Given the description of an element on the screen output the (x, y) to click on. 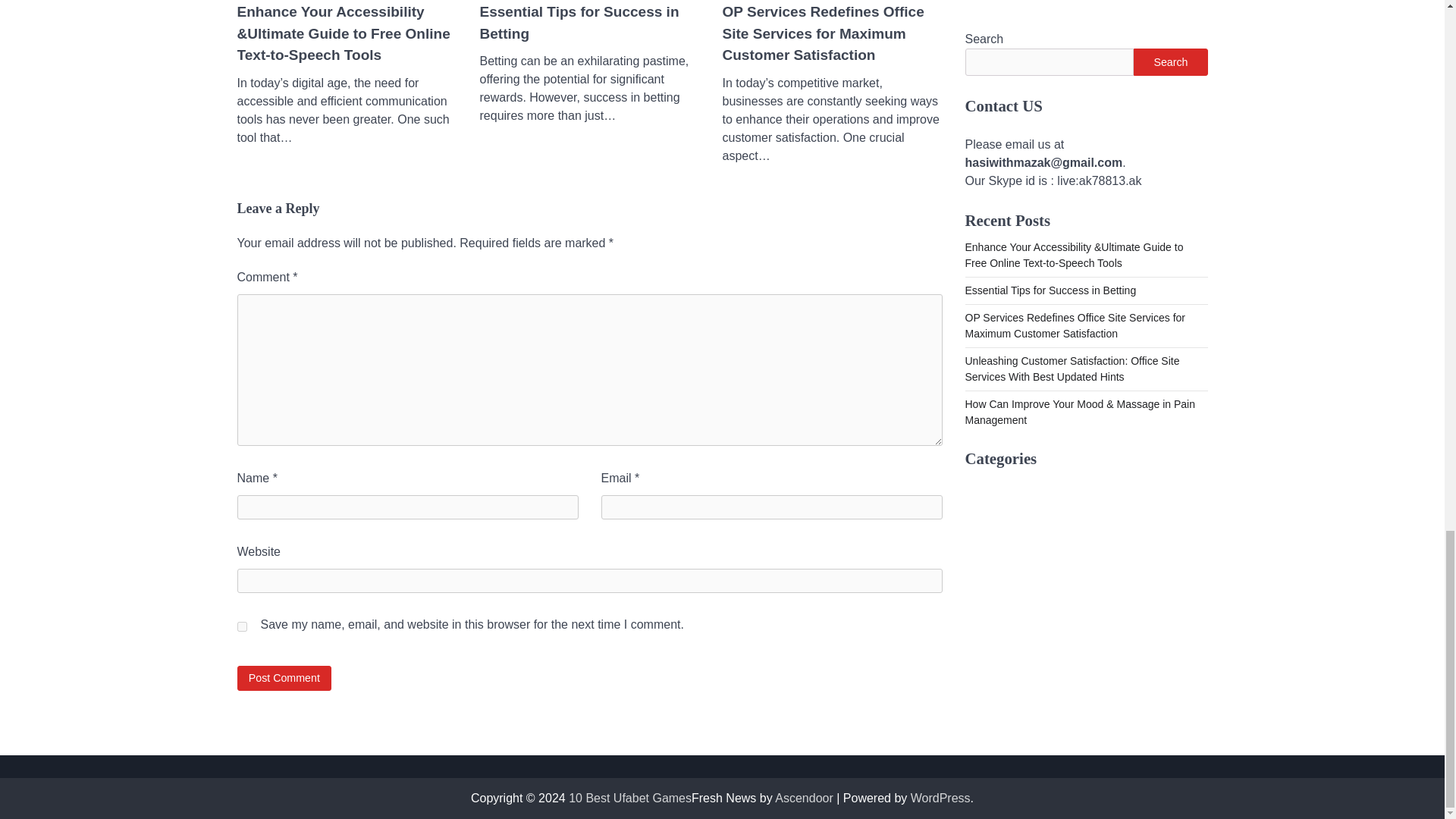
yes (240, 626)
Essential Tips for Success in Betting (588, 23)
Post Comment (283, 678)
Post Comment (283, 678)
